Given the description of an element on the screen output the (x, y) to click on. 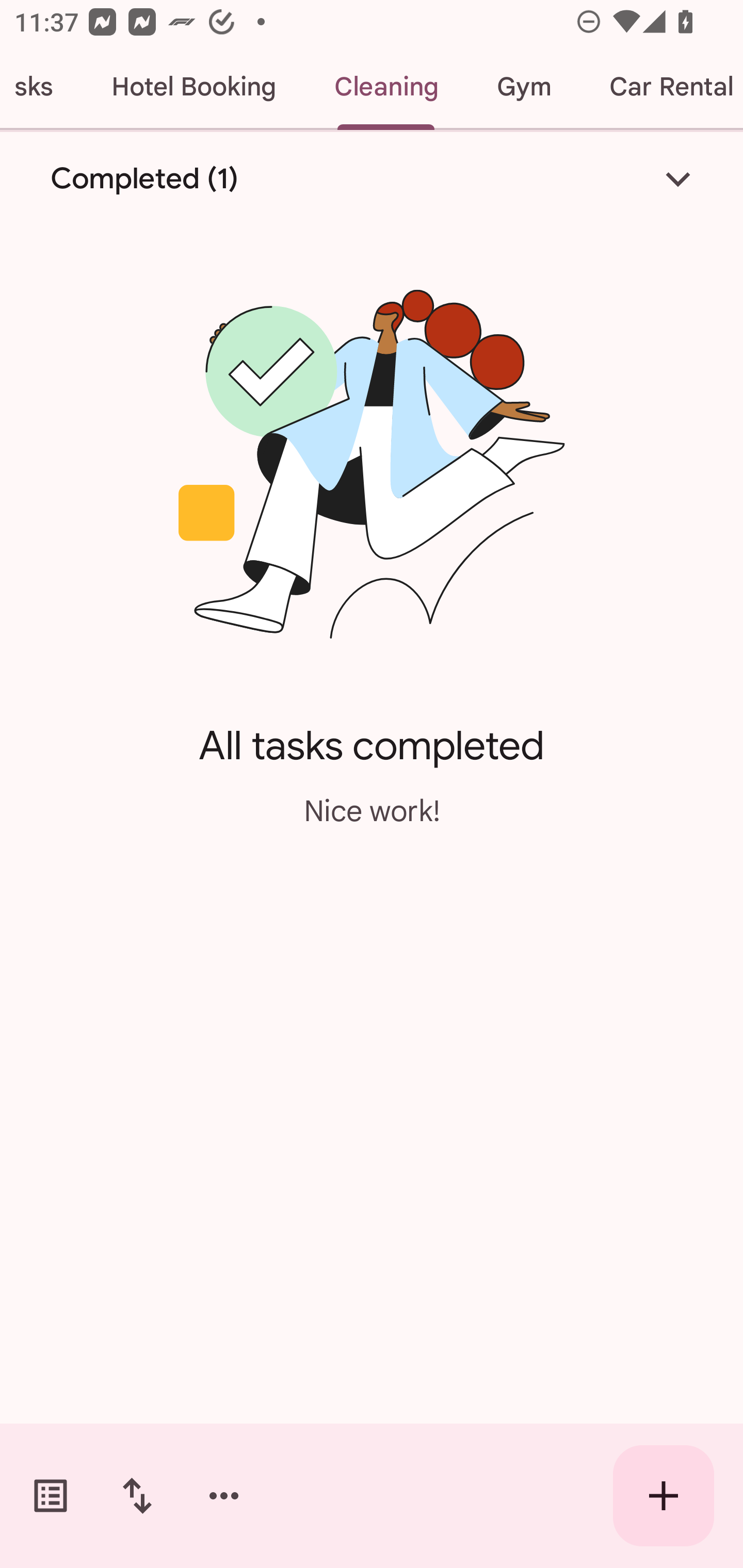
My Tasks (40, 86)
Hotel Booking (192, 86)
Gym (523, 86)
Car Rental (661, 86)
Completed (1) (371, 178)
Switch task lists (50, 1495)
Create new task (663, 1495)
Change sort order (136, 1495)
More options (223, 1495)
